Given the description of an element on the screen output the (x, y) to click on. 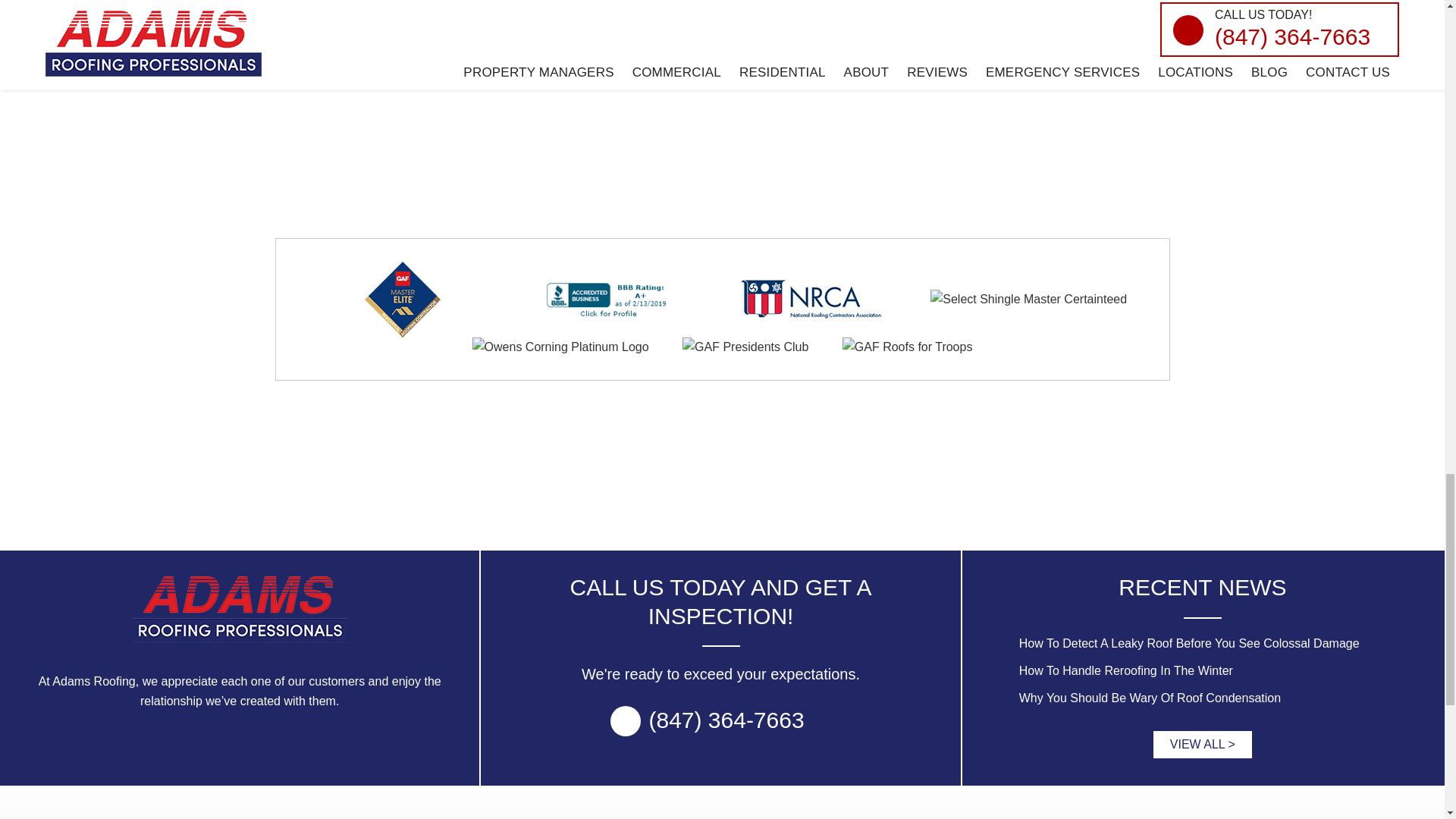
BBB Accredited Business (606, 298)
GAF Roofs for Troops (907, 347)
Twitter (722, 471)
GAF Presidents Club (745, 347)
Youtube (786, 471)
Adams Roofing Professionals, Inc (239, 609)
Owens Corning Platinum (560, 347)
Facebook (657, 471)
National Roofing Contractors Association (811, 298)
Select Shingle Master Certainteed (1028, 299)
